Given the description of an element on the screen output the (x, y) to click on. 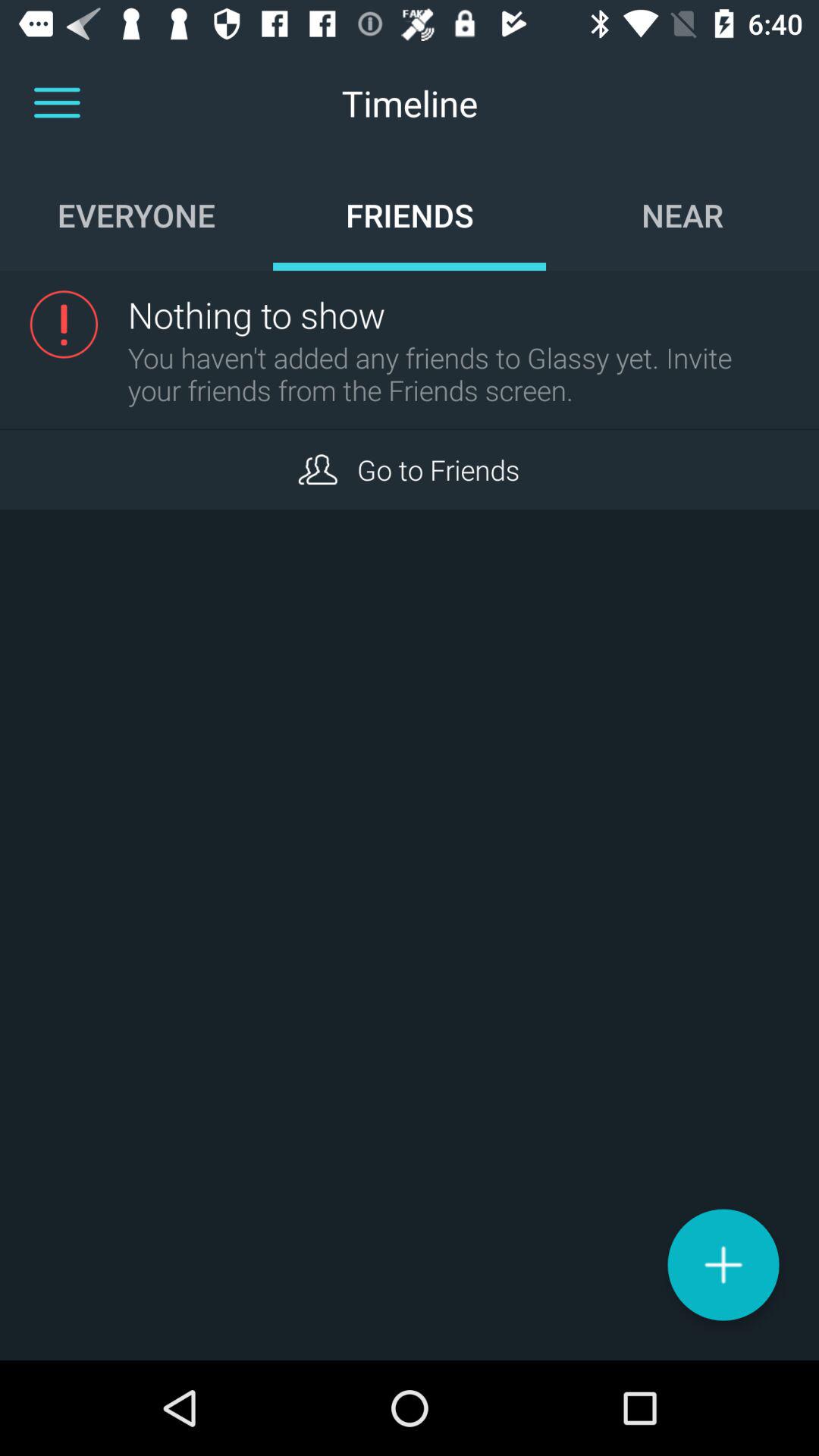
go to friends (317, 469)
